Given the description of an element on the screen output the (x, y) to click on. 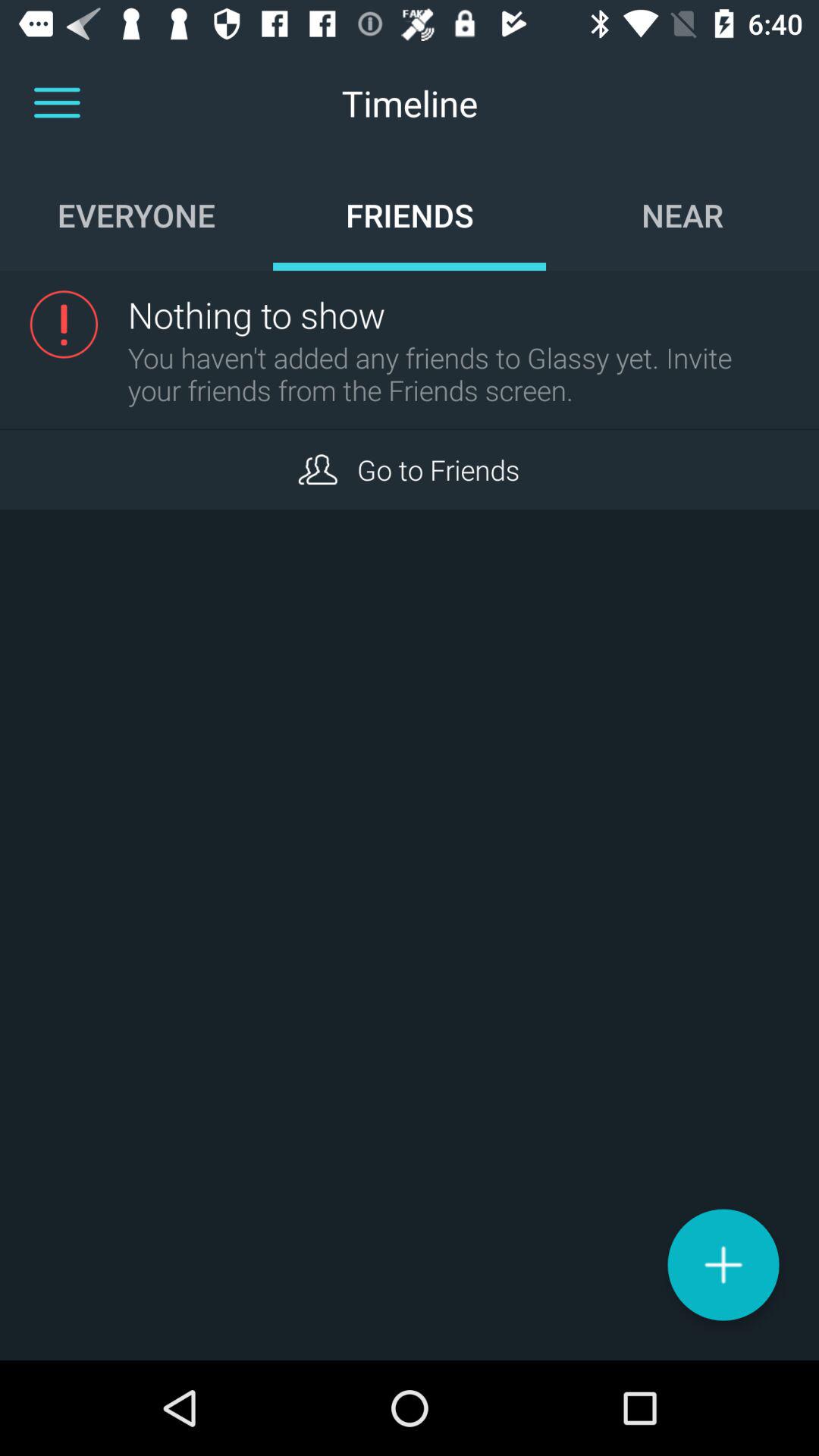
go to friends (317, 469)
